Given the description of an element on the screen output the (x, y) to click on. 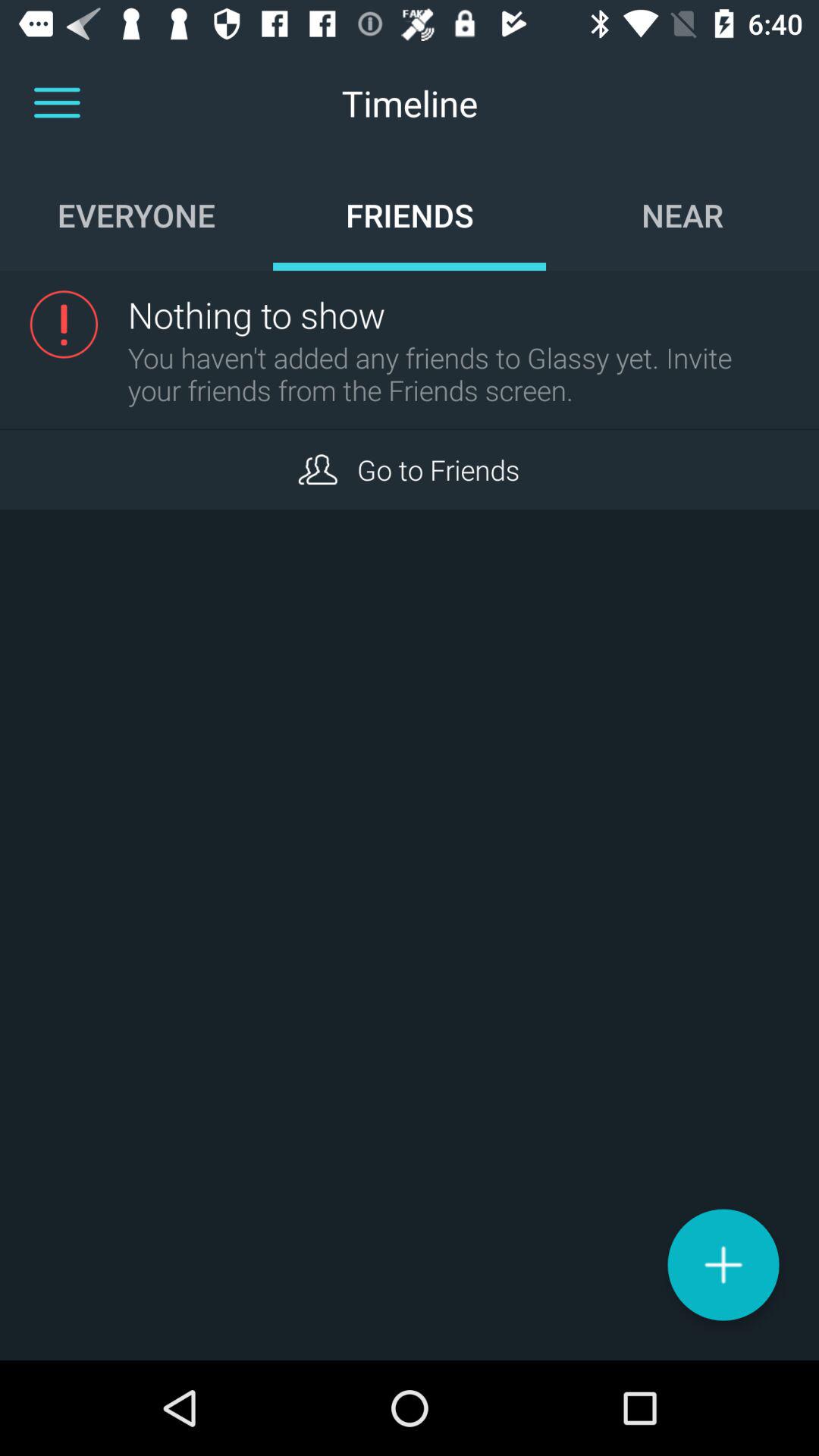
go to friends (317, 469)
